Given the description of an element on the screen output the (x, y) to click on. 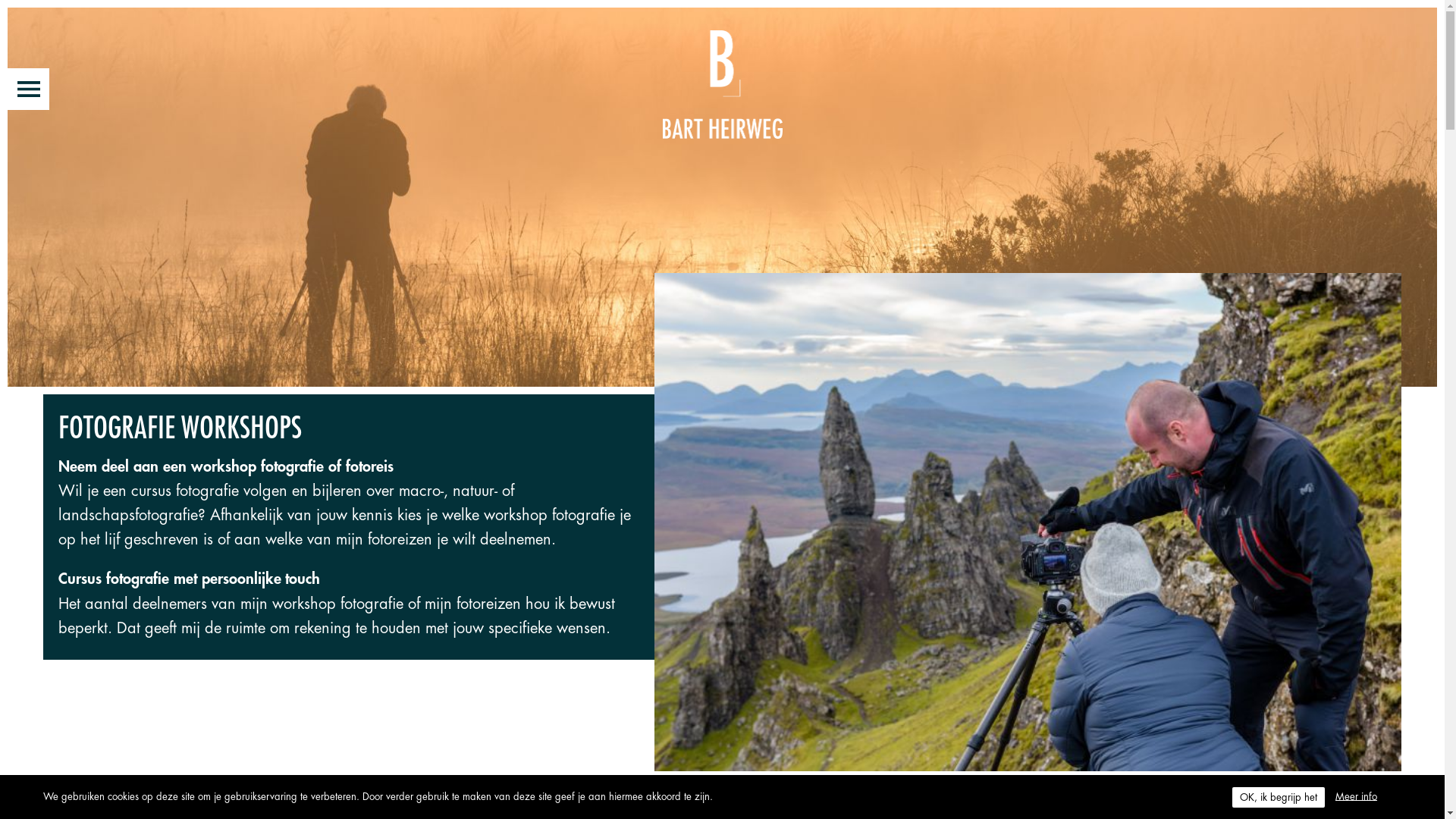
Bart Heirweg Element type: text (721, 84)
Overslaan en naar de inhoud gaan Element type: text (0, 0)
OK, ik begrijp het Element type: text (1278, 797)
Meer info Element type: text (1356, 795)
